Given the description of an element on the screen output the (x, y) to click on. 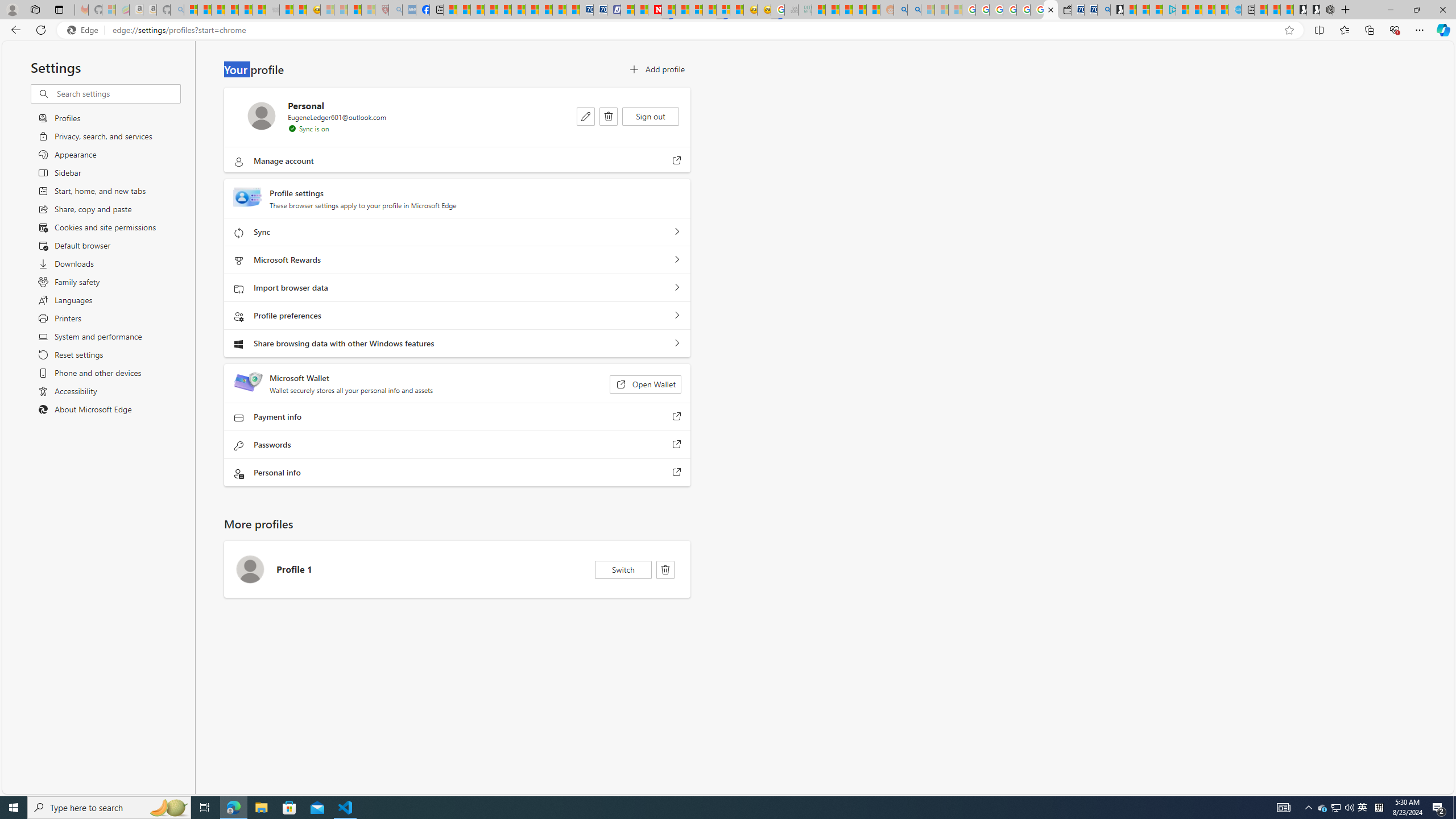
Cheap Hotels - Save70.com (599, 9)
Open Wallet (644, 384)
Edge (84, 29)
MSNBC - MSN (817, 9)
Sync (676, 231)
Delete (665, 570)
Navy Quest (791, 9)
World - MSN (477, 9)
Stocks - MSN (258, 9)
